Given the description of an element on the screen output the (x, y) to click on. 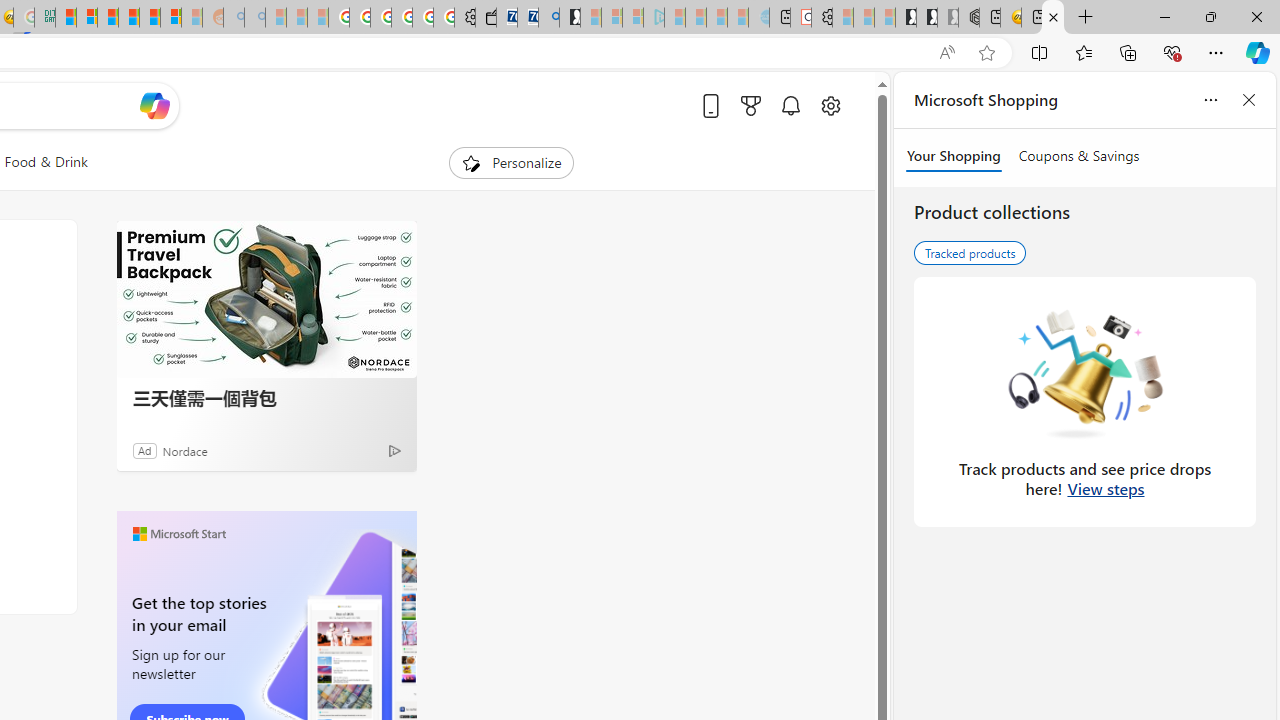
DITOGAMES AG Imprint (44, 17)
Ad Choice (394, 449)
Nordace (184, 450)
Utah sues federal government - Search - Sleeping (254, 17)
